Given the description of an element on the screen output the (x, y) to click on. 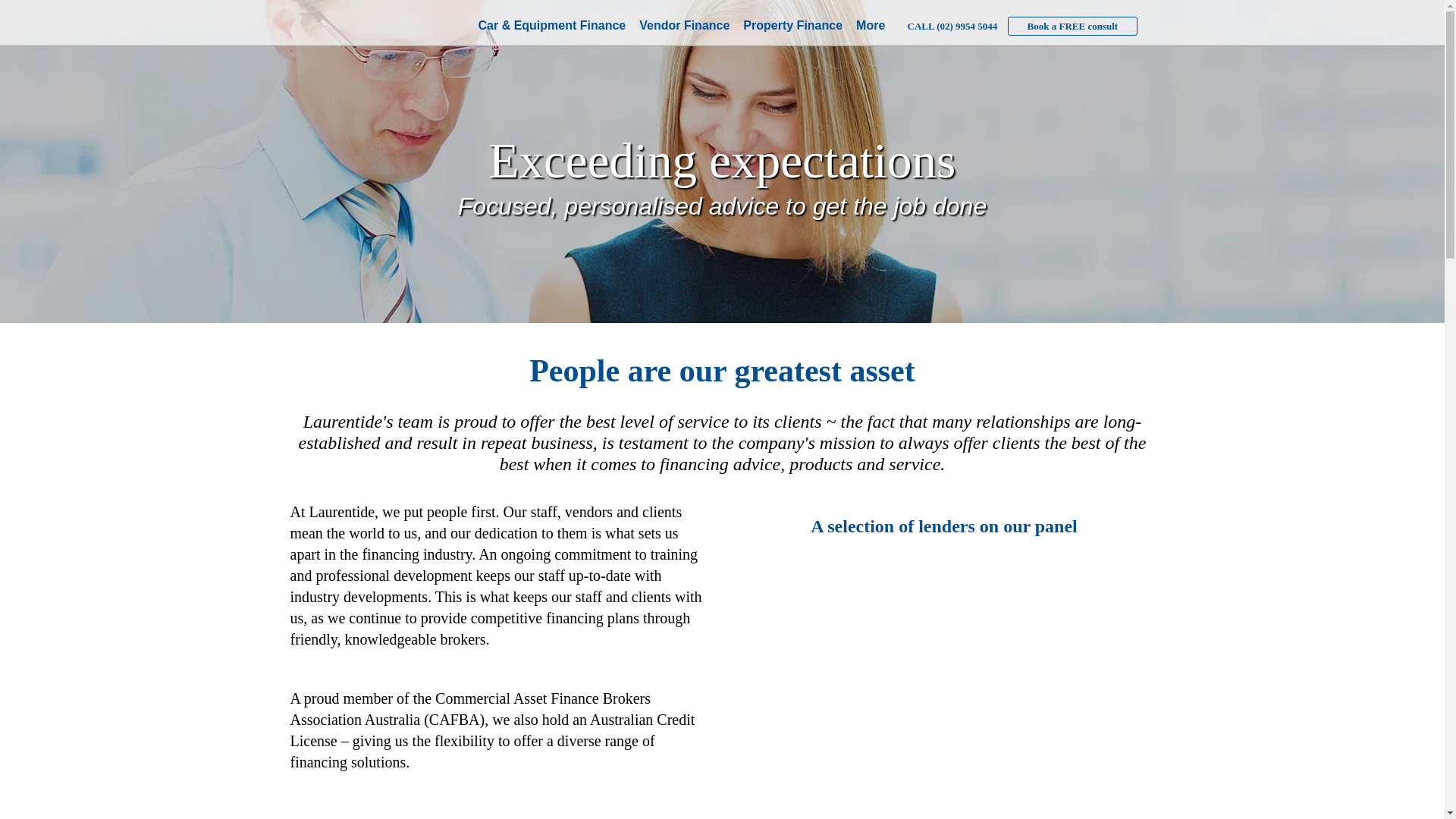
Car &
Equipment Finance Element type: text (552, 25)
Book a FREE consult Element type: text (1072, 25)
Vendor
Finance Element type: text (684, 25)
More Element type: text (870, 25)
Property
Finance Element type: text (792, 25)
